Given the description of an element on the screen output the (x, y) to click on. 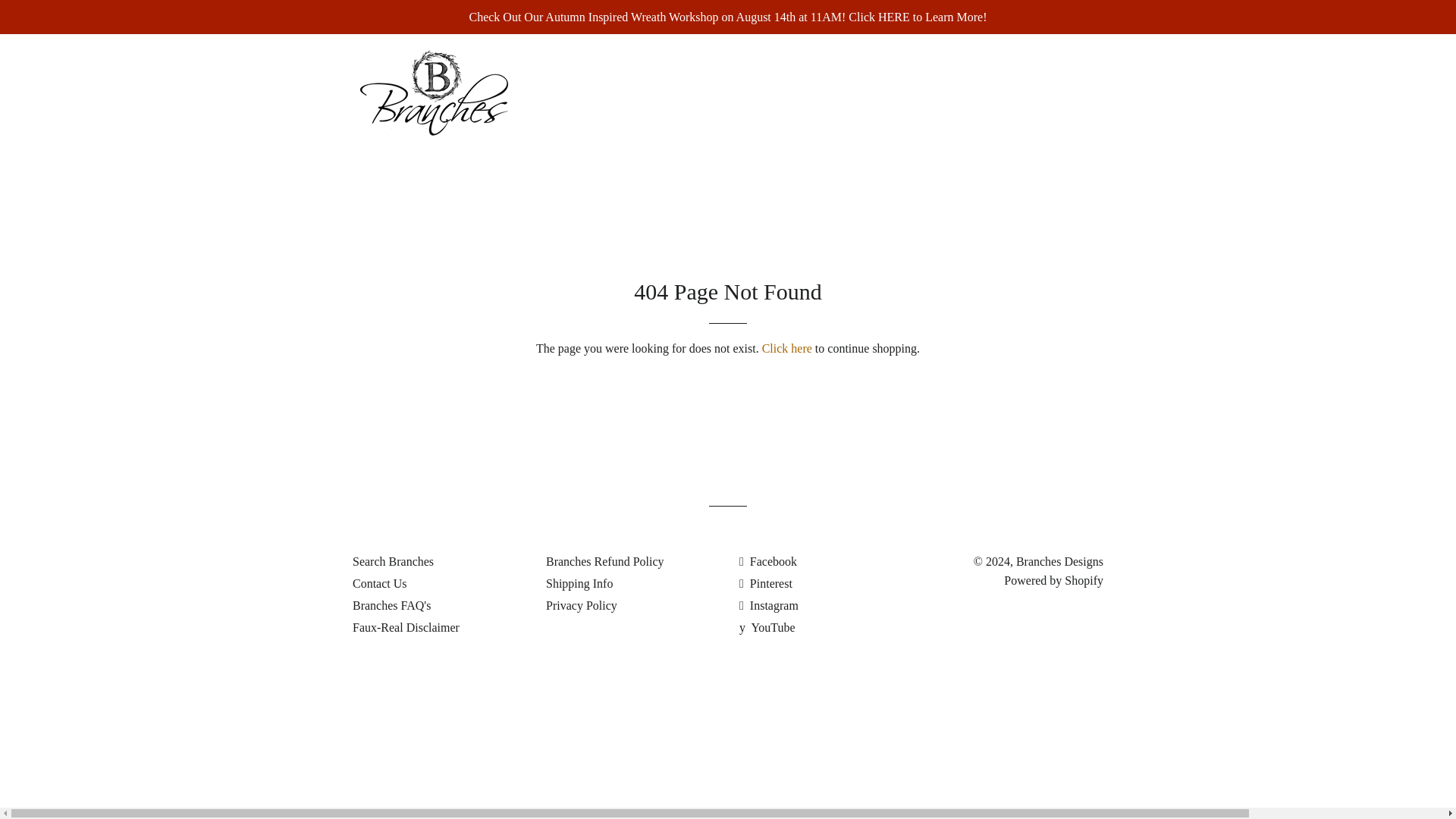
Branches Designs on Facebook (767, 561)
Branches Designs on Pinterest (765, 583)
Branches Designs on Instagram (768, 604)
Branches Designs on YouTube (766, 626)
